Given the description of an element on the screen output the (x, y) to click on. 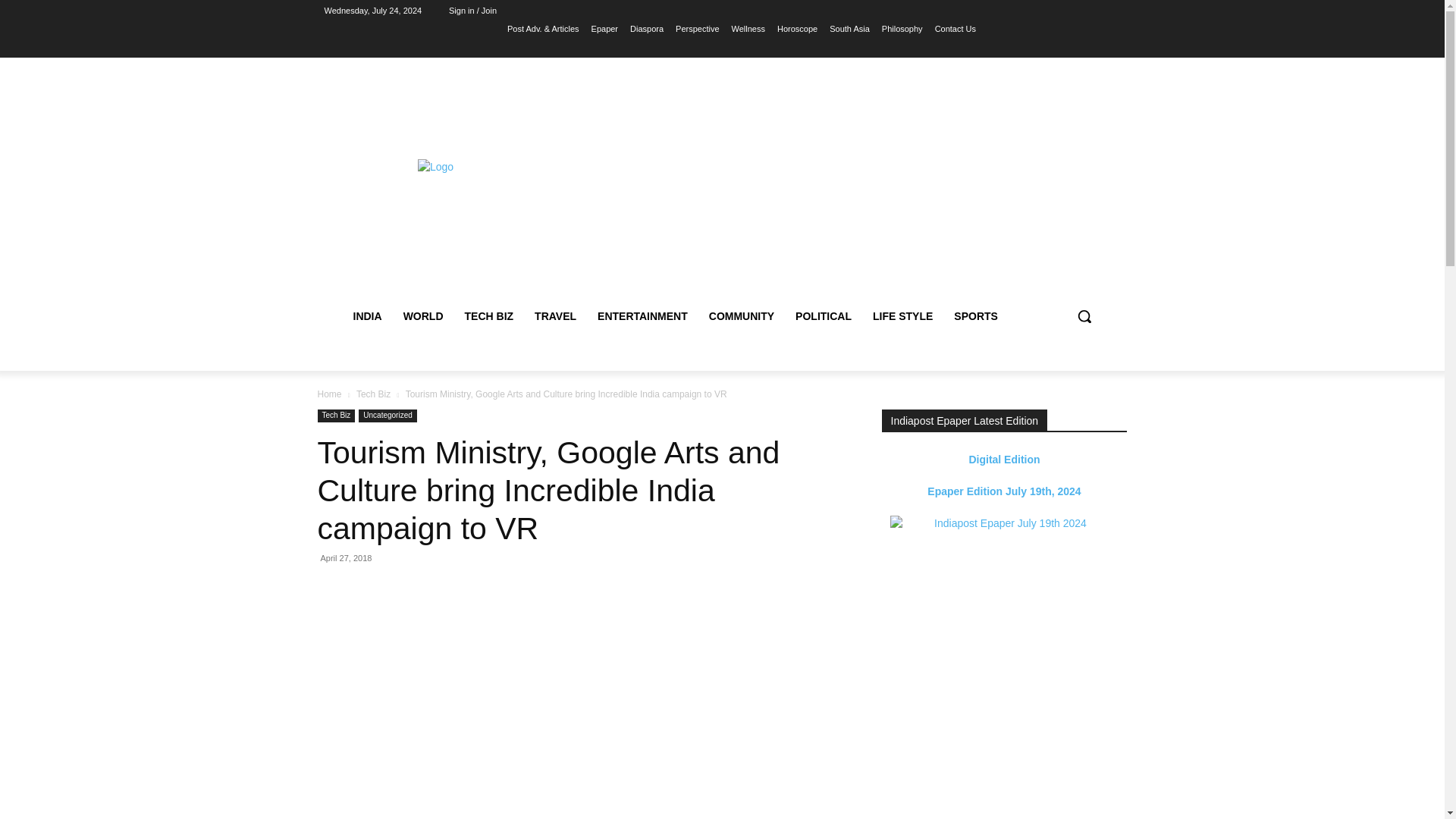
Diaspora (646, 28)
Uncategorized (387, 415)
WORLD (423, 316)
Tech Biz (336, 415)
TRAVEL (555, 316)
View all posts in Tech Biz (373, 394)
SPORTS (976, 316)
South Asia (849, 28)
Home (328, 394)
INDIA (367, 316)
ENTERTAINMENT (642, 316)
LIFE STYLE (902, 316)
COMMUNITY (741, 316)
Wellness (748, 28)
